Given the description of an element on the screen output the (x, y) to click on. 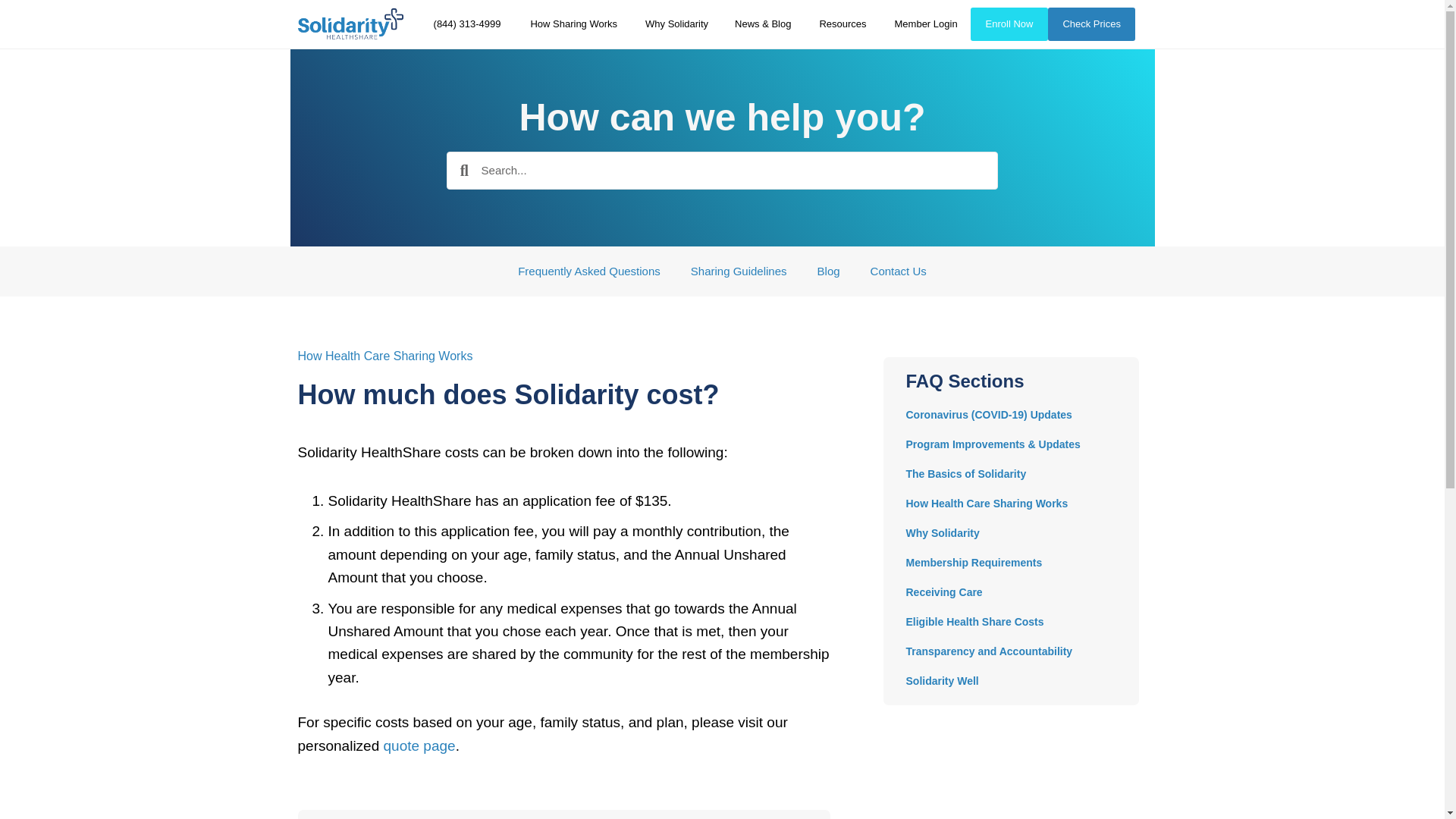
How Sharing Works (573, 23)
Contact Us (898, 270)
Resources (842, 23)
Frequently Asked Questions (589, 270)
Enroll Now (1009, 23)
How Health Care Sharing Works (384, 354)
quote page (419, 745)
Why Solidarity (676, 23)
Sharing Guidelines (738, 270)
Member Login (925, 23)
